Given the description of an element on the screen output the (x, y) to click on. 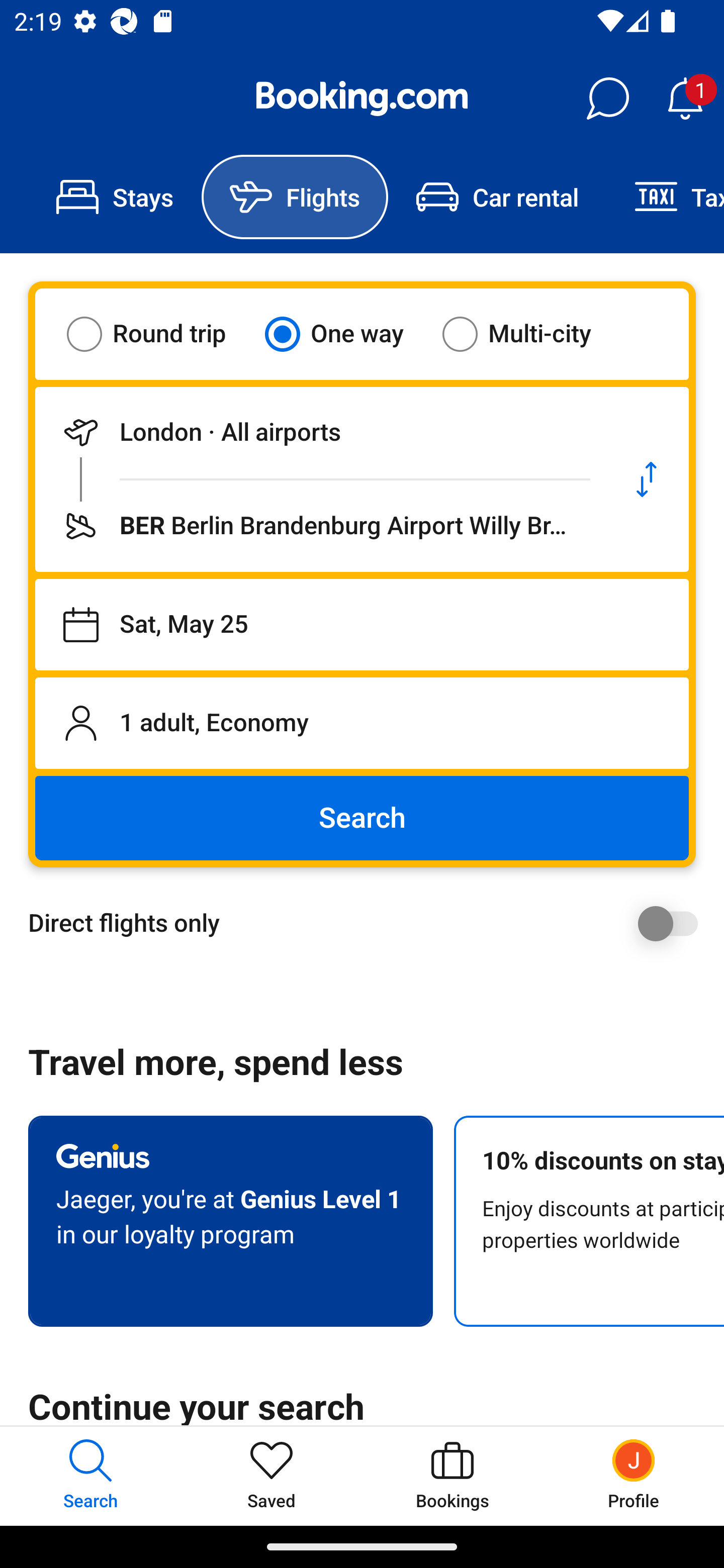
Messages (607, 98)
Notifications (685, 98)
Stays (114, 197)
Flights (294, 197)
Car rental (497, 197)
Taxi (665, 197)
Round trip (158, 333)
Multi-city (528, 333)
Departing from London · All airports (319, 432)
Swap departure location and destination (646, 479)
Departing on Sat, May 25 (361, 624)
1 adult, Economy (361, 722)
Search (361, 818)
Direct flights only (369, 923)
Saved (271, 1475)
Bookings (452, 1475)
Profile (633, 1475)
